Given the description of an element on the screen output the (x, y) to click on. 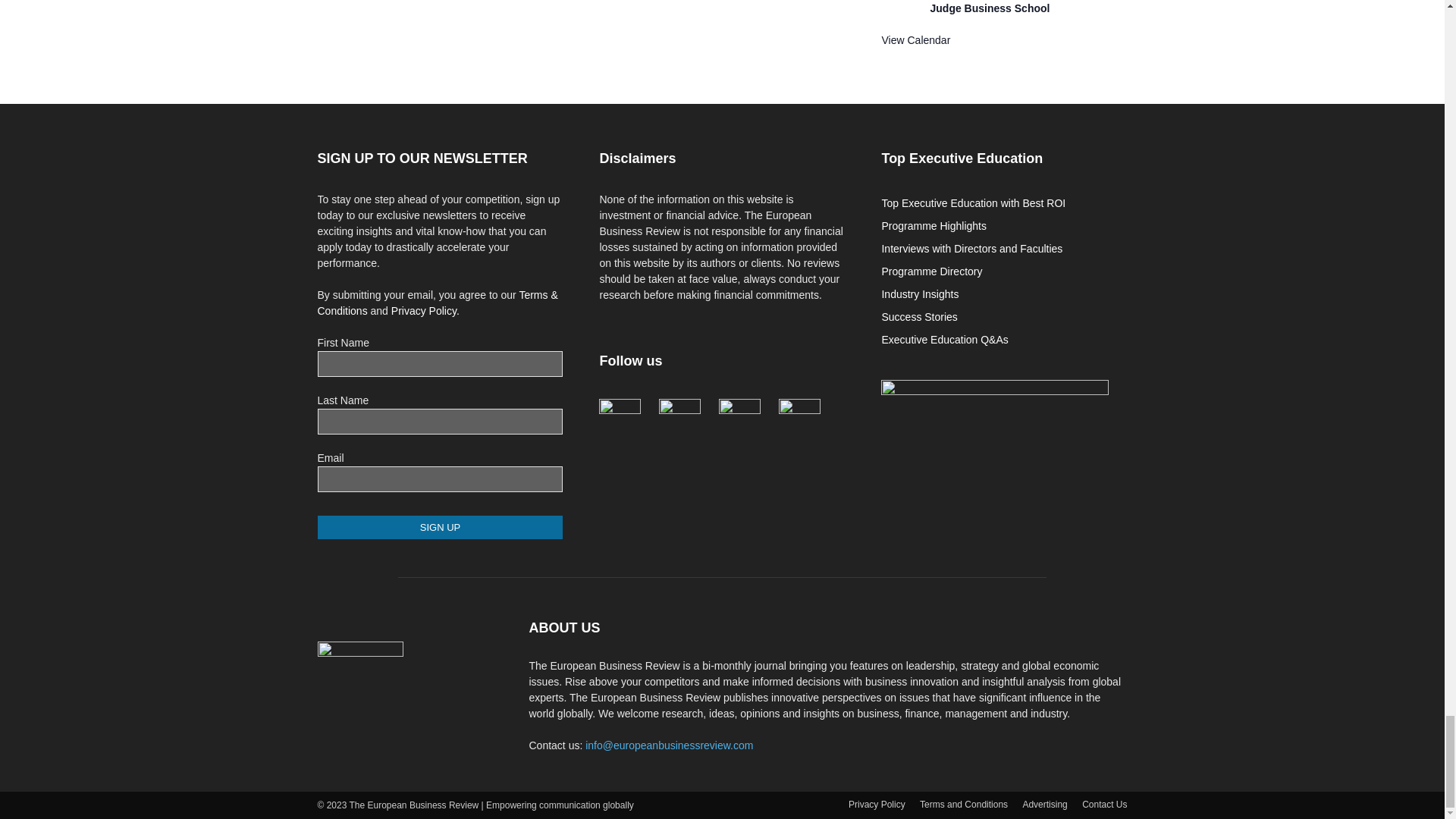
SIGN UP (439, 526)
